Given the description of an element on the screen output the (x, y) to click on. 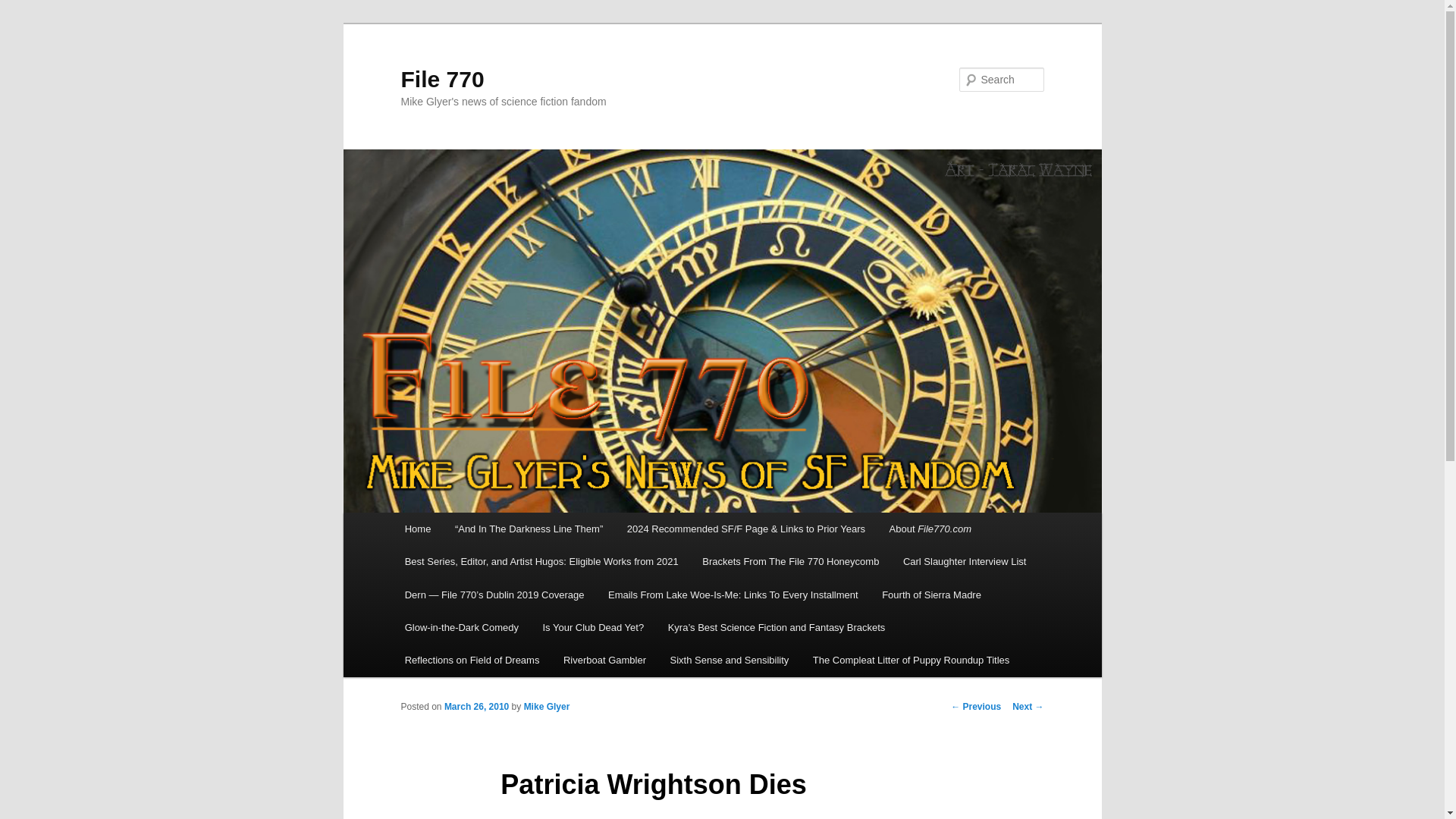
Search (24, 8)
12:37 pm (476, 706)
Fourth of Sierra Madre (930, 594)
Is Your Club Dead Yet? (593, 626)
The Compleat Litter of Puppy Roundup Titles (911, 659)
Riverboat Gambler (604, 659)
Home (417, 528)
Mike Glyer (547, 706)
File 770 (441, 78)
Emails From Lake Woe-Is-Me: Links To Every Installment (732, 594)
Reflections on Field of Dreams (472, 659)
View all posts by Mike Glyer (547, 706)
Sixth Sense and Sensibility (729, 659)
